Given the description of an element on the screen output the (x, y) to click on. 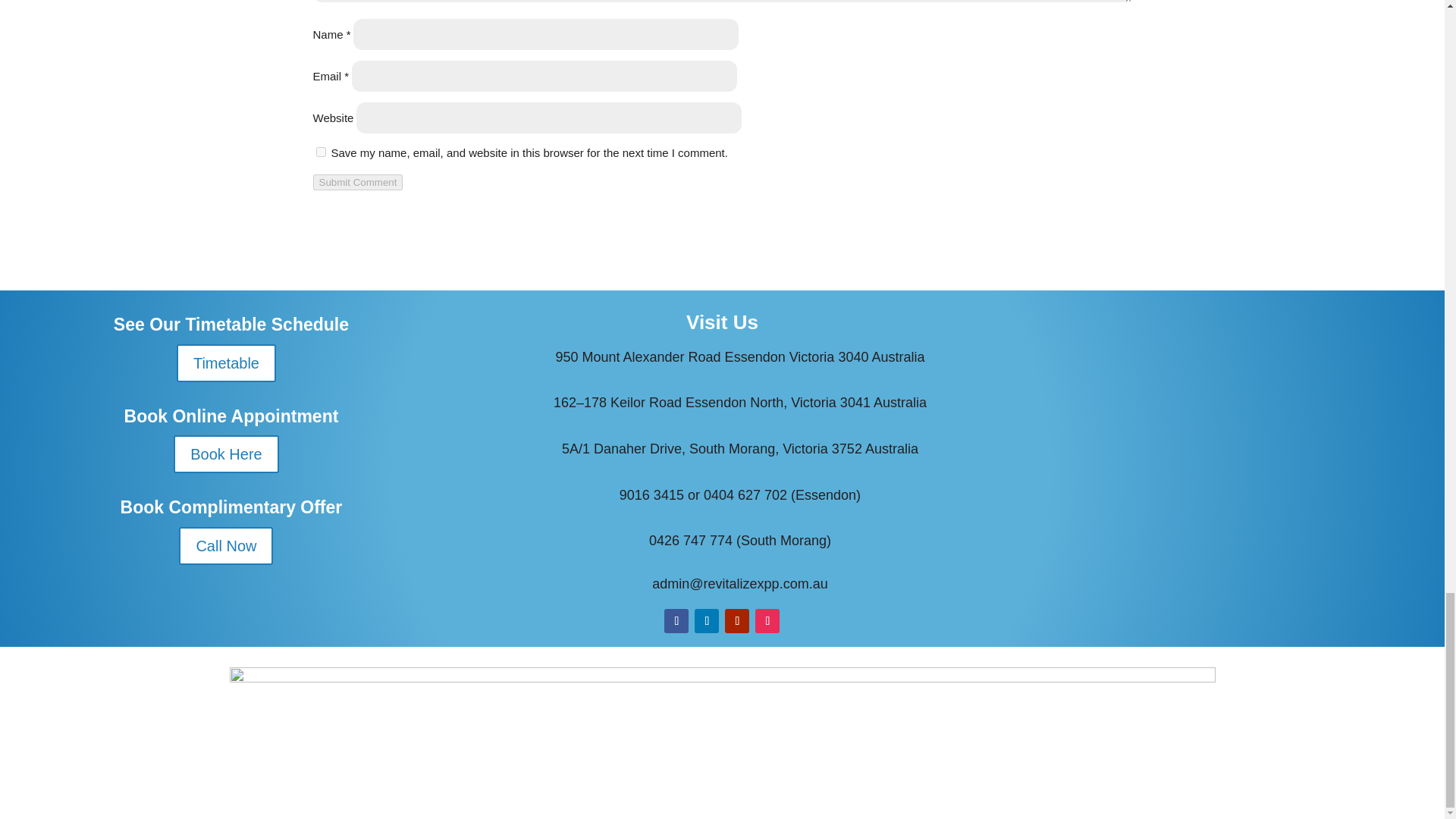
Follow on LinkedIn (706, 621)
Banner 3 (721, 732)
yes (319, 152)
Follow on Facebook (675, 621)
Follow on Youtube (737, 621)
Follow on Instagram (766, 621)
